Given the description of an element on the screen output the (x, y) to click on. 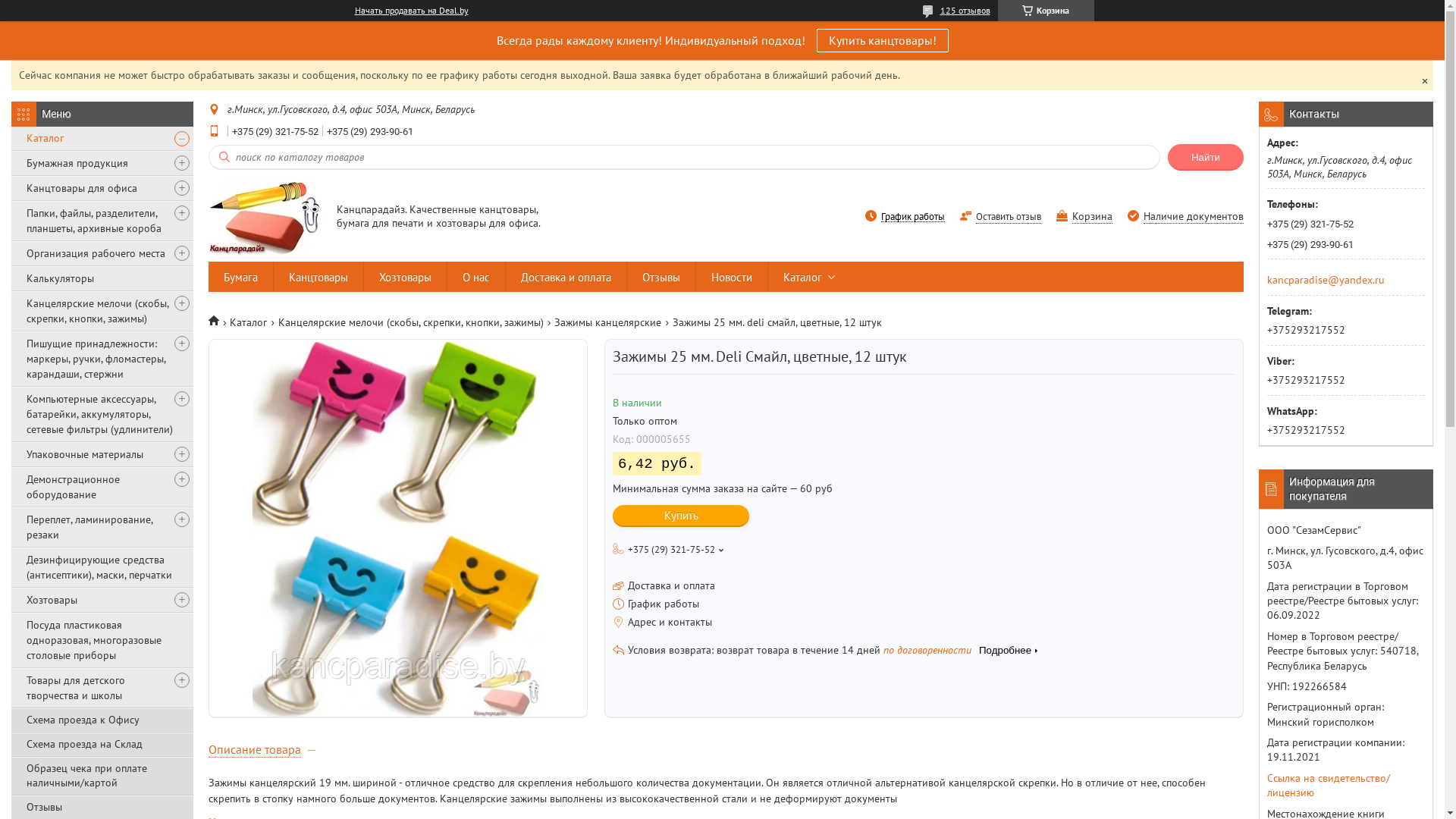
kancparadise@yandex.ru Element type: text (1325, 278)
